Given the description of an element on the screen output the (x, y) to click on. 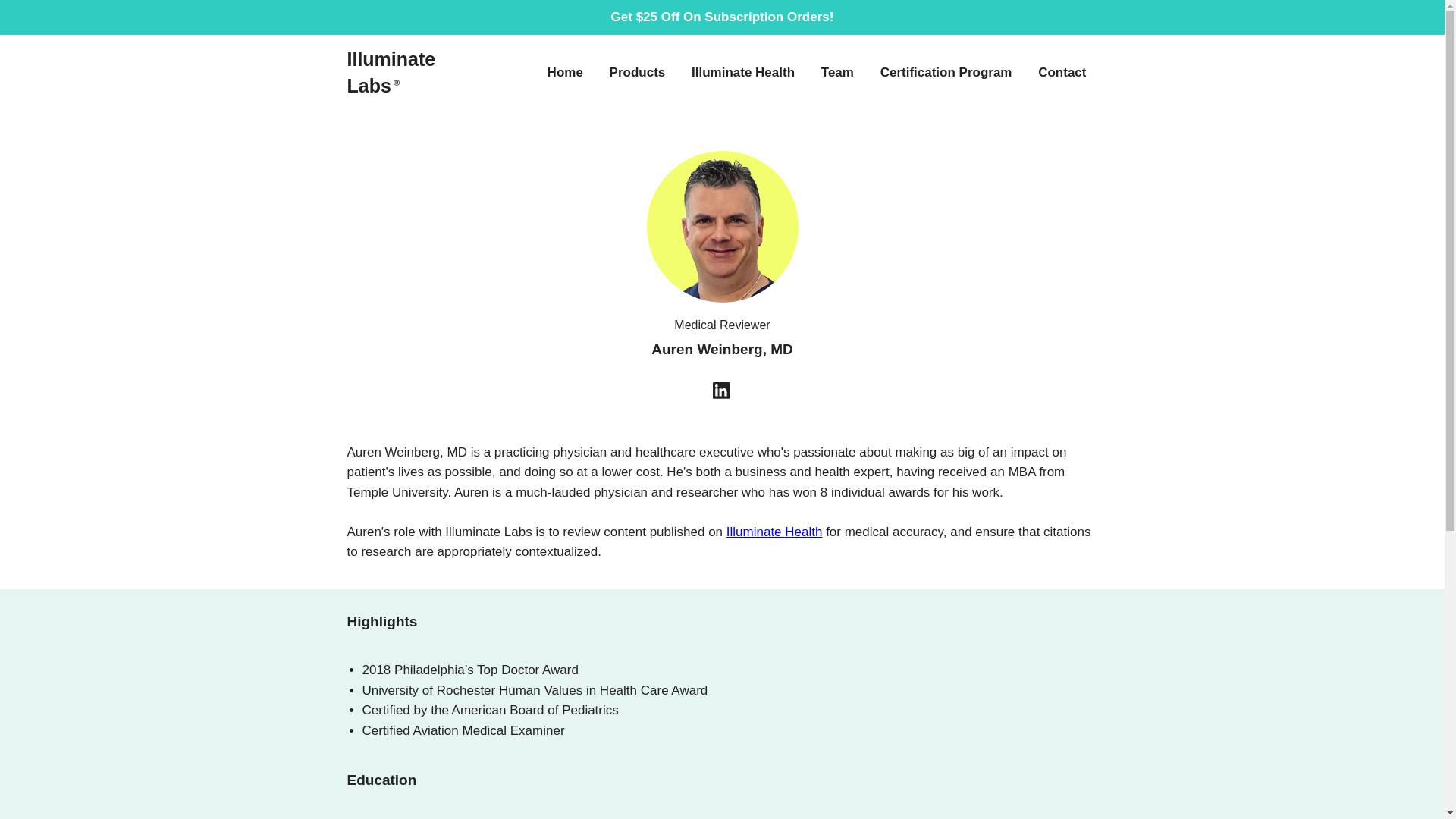
Contact (1061, 73)
LinkedIn (722, 394)
Illuminate Health (774, 531)
Illuminate Health (742, 73)
Team (836, 73)
Products (637, 73)
Home (564, 73)
Certification Program (946, 73)
